Given the description of an element on the screen output the (x, y) to click on. 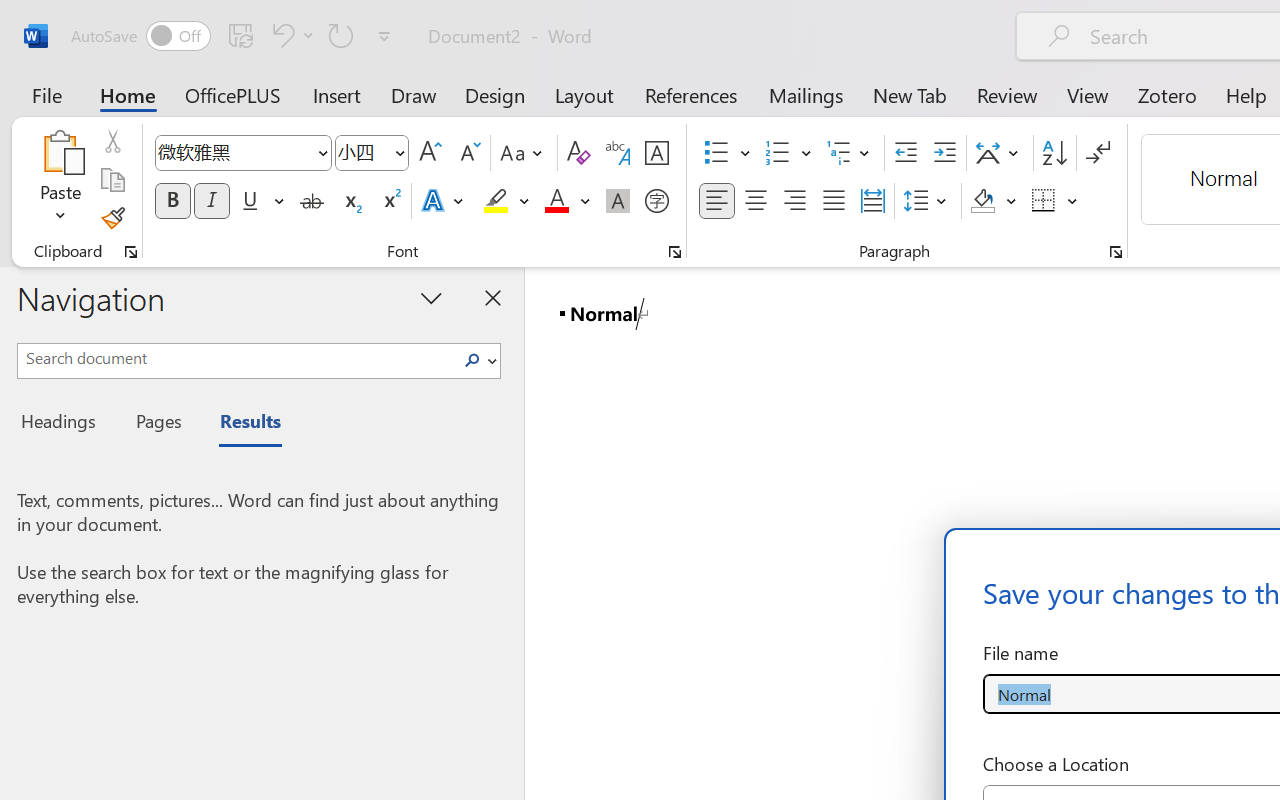
Paste (60, 179)
Font Size (362, 152)
Shading (993, 201)
Line and Paragraph Spacing (927, 201)
Strikethrough (312, 201)
Bullets (727, 153)
Underline (261, 201)
New Tab (909, 94)
Repeat Style (341, 35)
Align Right (794, 201)
Asian Layout (1000, 153)
Enclose Characters... (656, 201)
Layout (584, 94)
Class: NetUIImage (471, 360)
Font Size (372, 153)
